Given the description of an element on the screen output the (x, y) to click on. 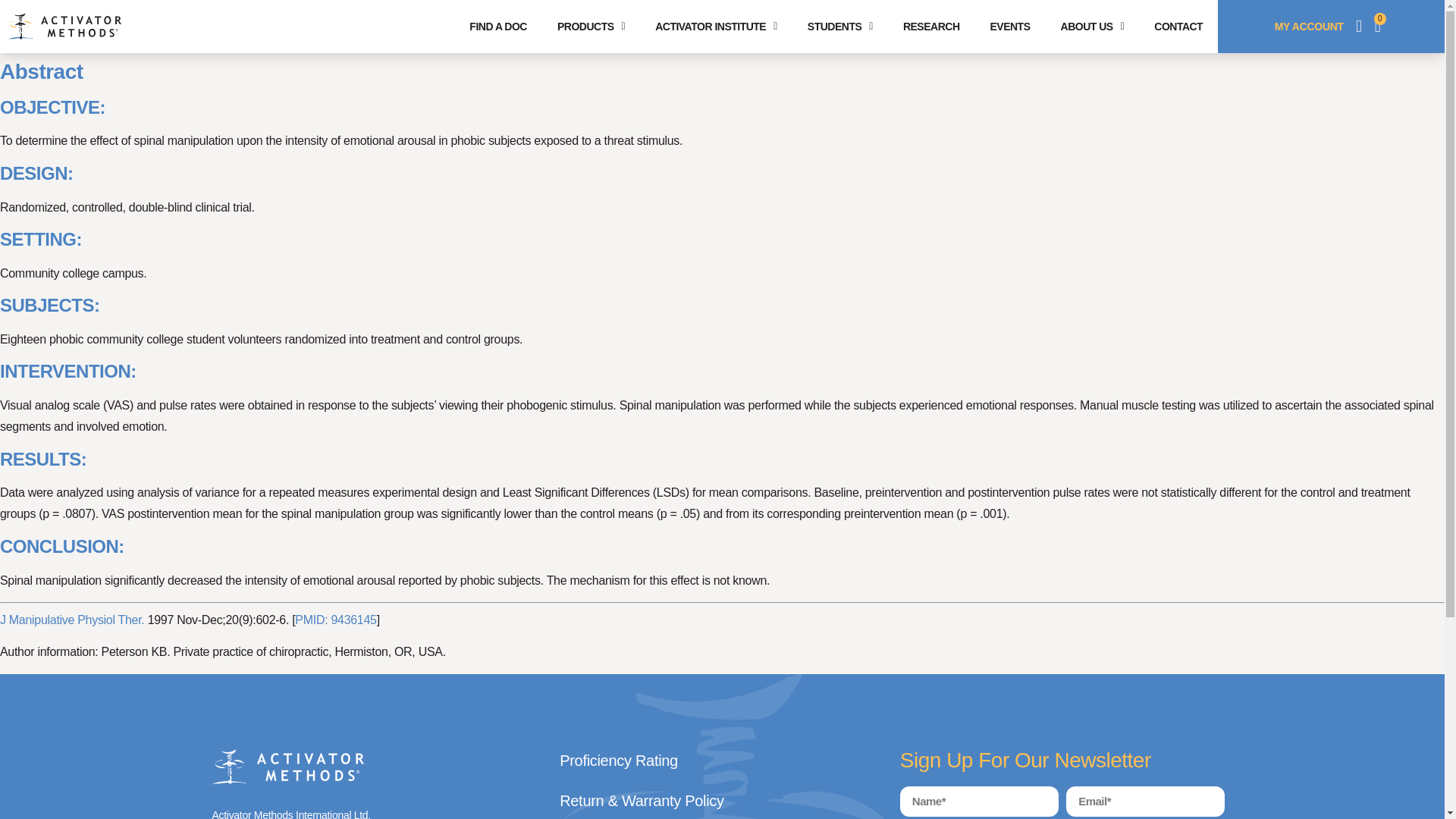
Journal of manipulative and physiological therapeutics. (72, 619)
RESEARCH (931, 26)
PRODUCTS (590, 26)
ABOUT US (1092, 26)
CONTACT (1177, 26)
EVENTS (1010, 26)
FIND A DOC (497, 26)
STUDENTS (840, 26)
ACTIVATOR INSTITUTE (716, 26)
